Given the description of an element on the screen output the (x, y) to click on. 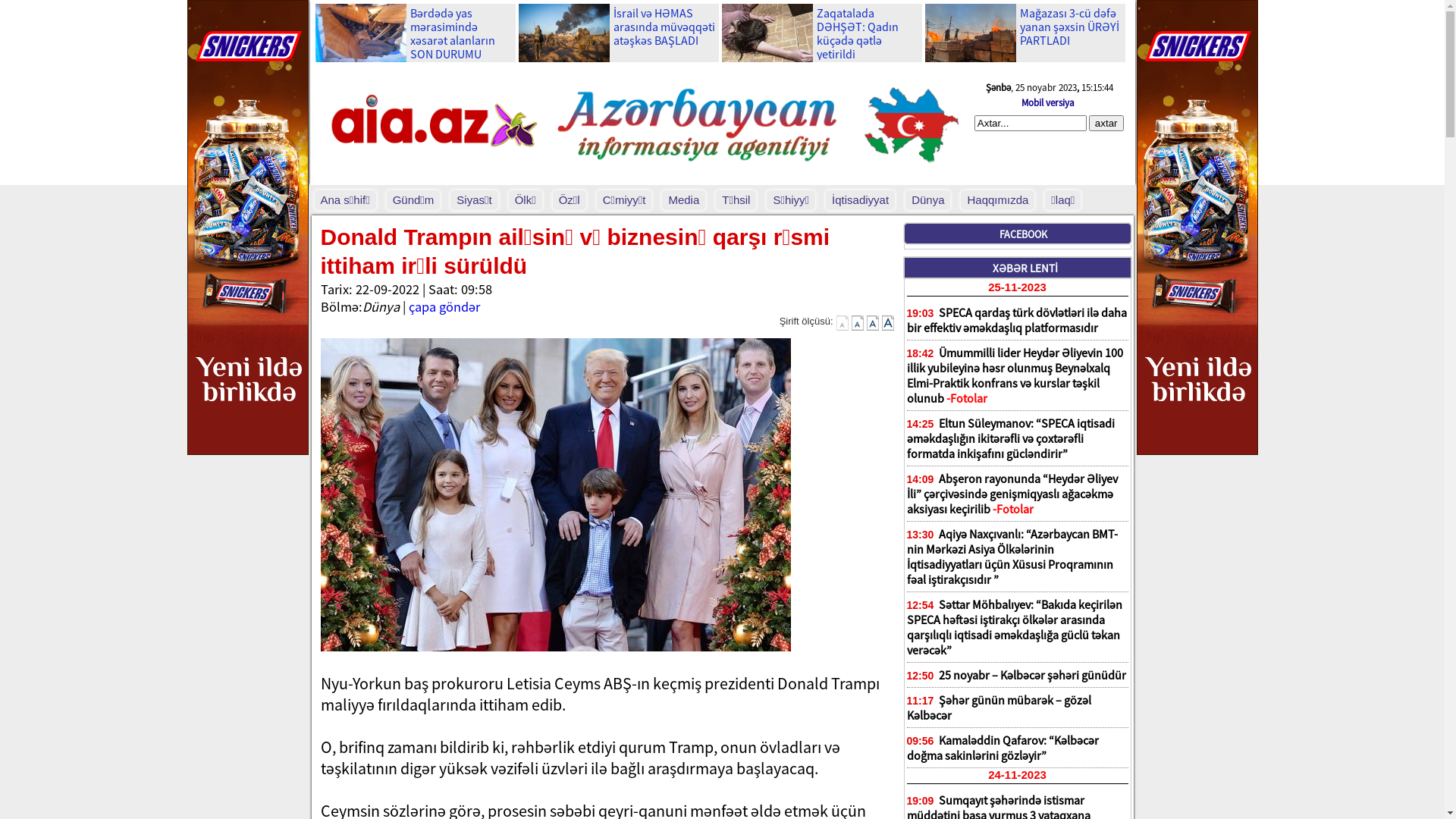
Media Element type: text (683, 200)
Mobil versiya Element type: text (1047, 102)
FACEBOOK Element type: text (1023, 234)
axtar Element type: text (1105, 123)
